Given the description of an element on the screen output the (x, y) to click on. 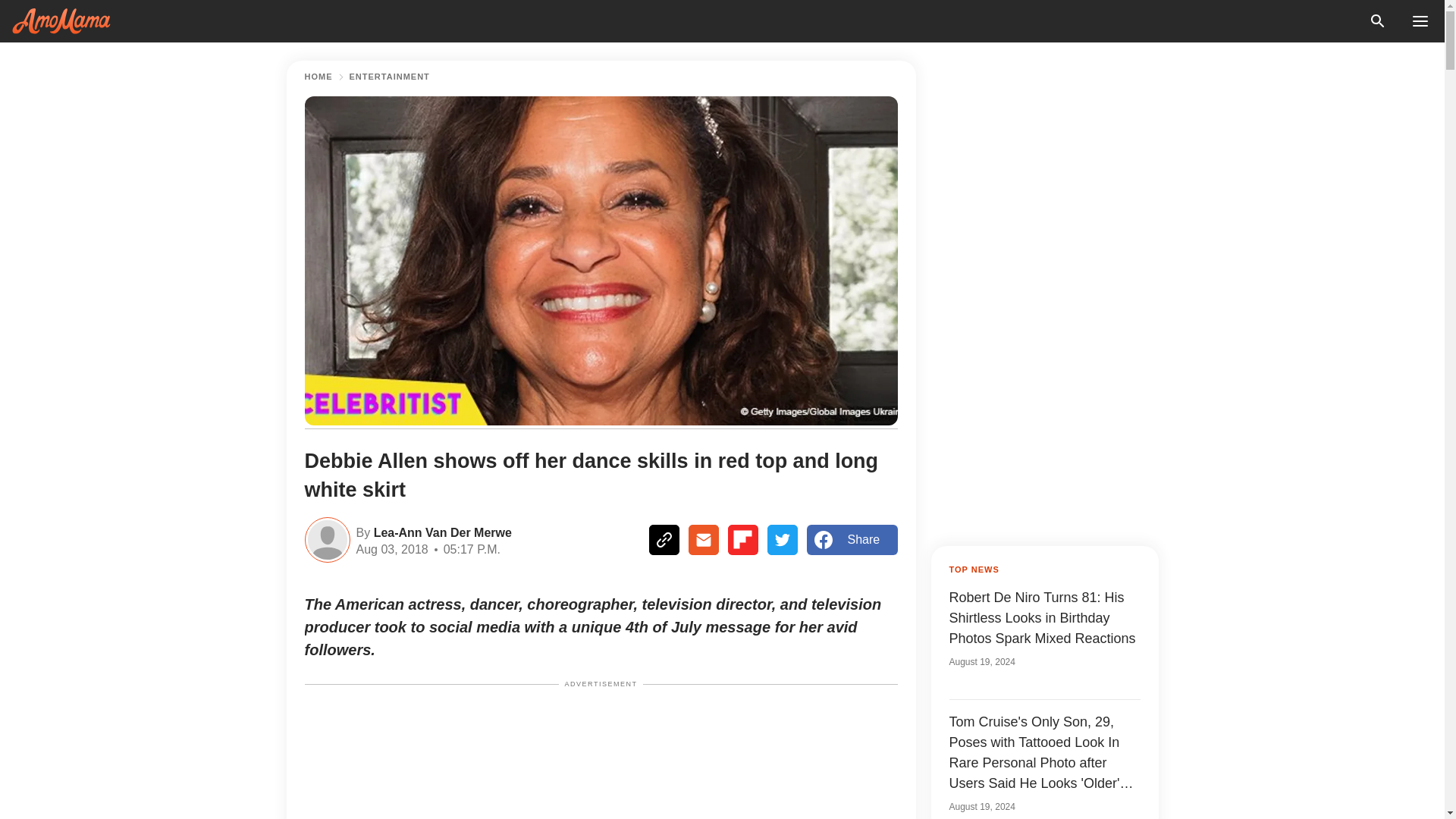
ENTERTAINMENT (389, 76)
HOME (318, 76)
Lea-Ann Van Der Merwe (440, 531)
